Given the description of an element on the screen output the (x, y) to click on. 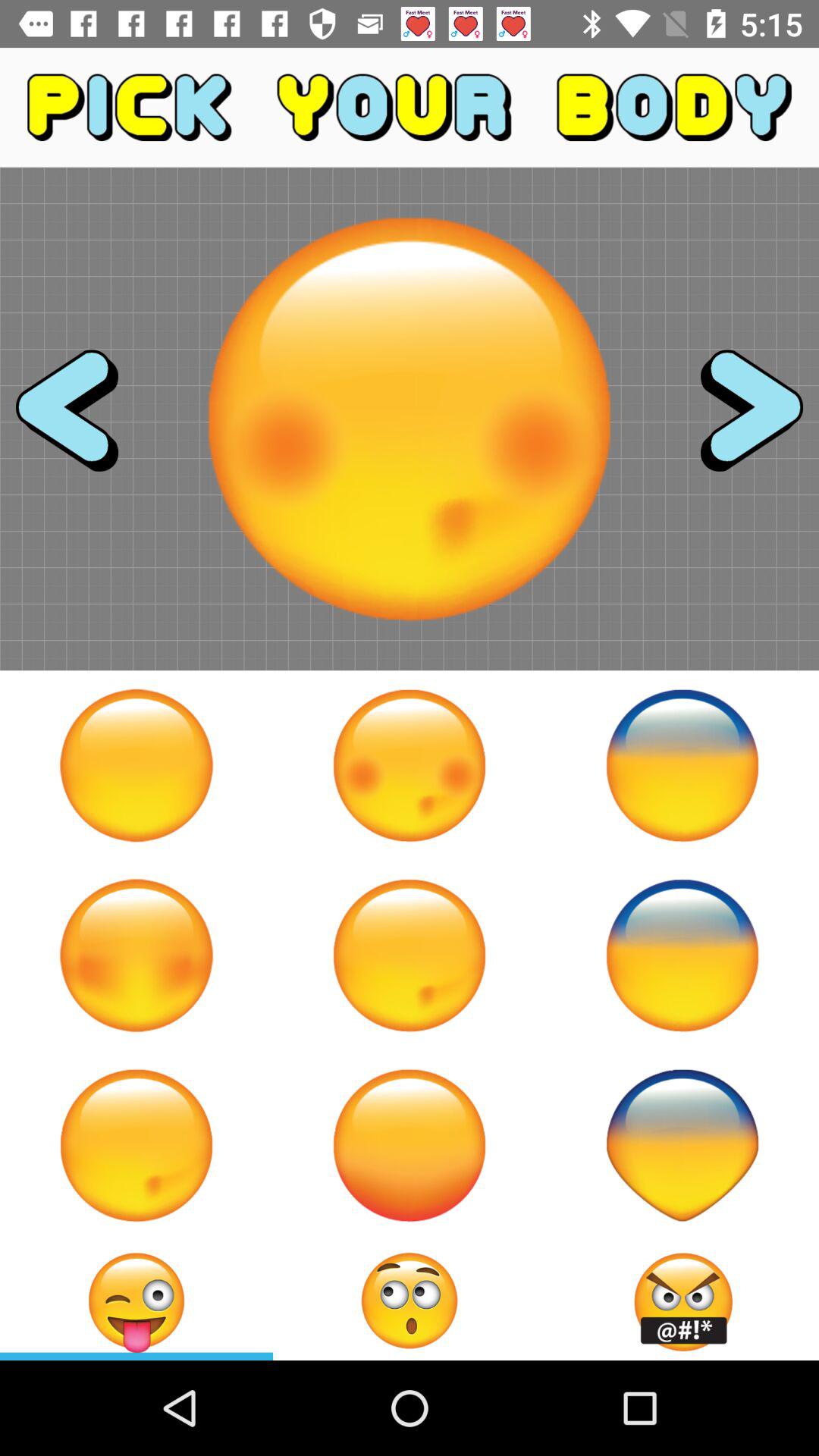
body option (409, 765)
